Given the description of an element on the screen output the (x, y) to click on. 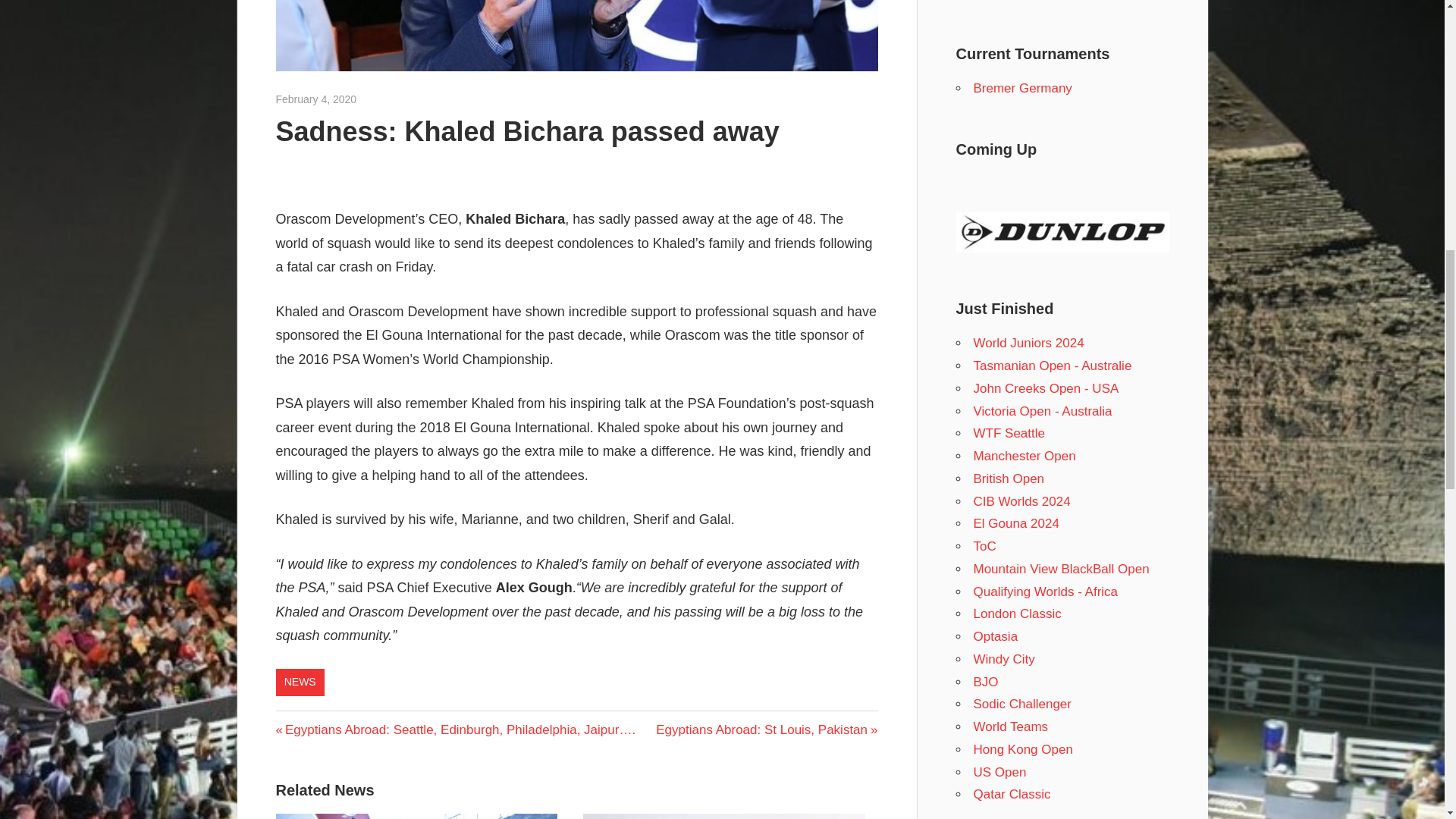
February 4, 2020 (316, 99)
View all posts by Framboise Gommendy (410, 99)
6:39 am (316, 99)
NEWS (300, 682)
Framboise Gommendy (410, 99)
